Given the description of an element on the screen output the (x, y) to click on. 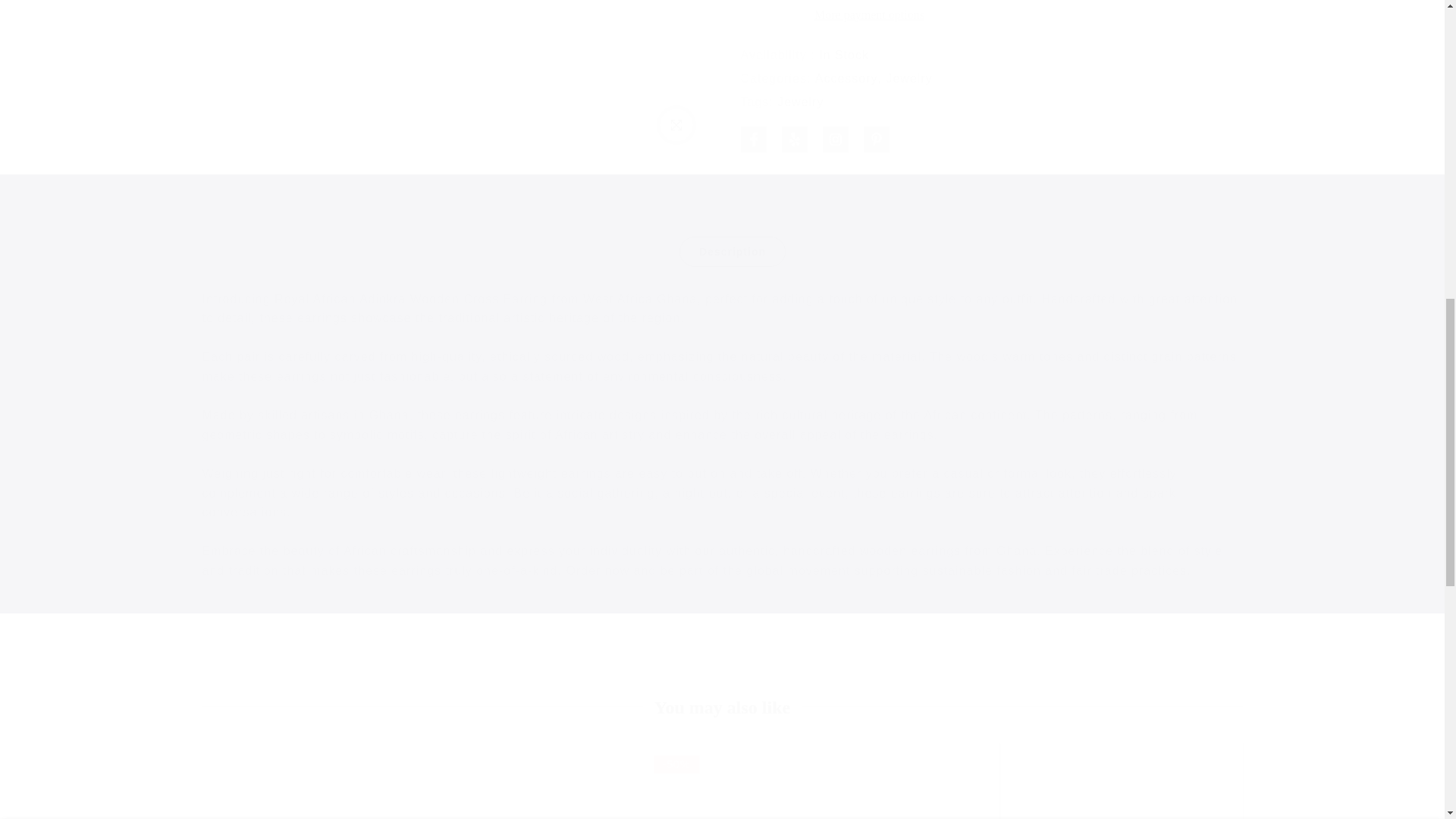
Share on Pinterest (875, 31)
Share on Facebook (752, 31)
Share on Yelp (793, 31)
1 (939, 35)
Share on Instagram (834, 31)
